Given the description of an element on the screen output the (x, y) to click on. 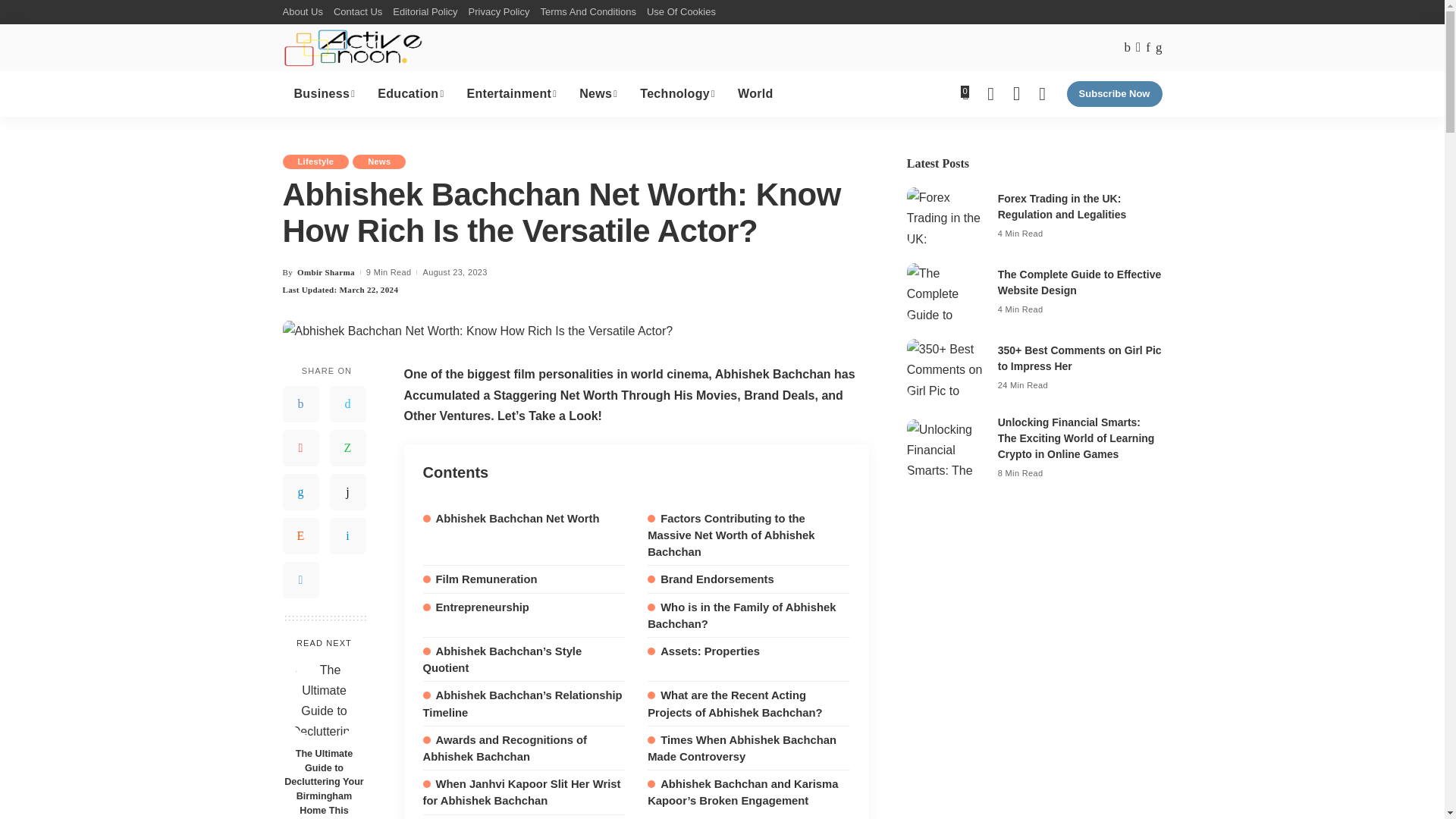
Editorial Policy (425, 11)
Active Noon (353, 47)
Use Of Cookies (681, 11)
Terms And Conditions (587, 11)
Contact Us (358, 11)
Privacy Policy (499, 11)
About Us (304, 11)
